Given the description of an element on the screen output the (x, y) to click on. 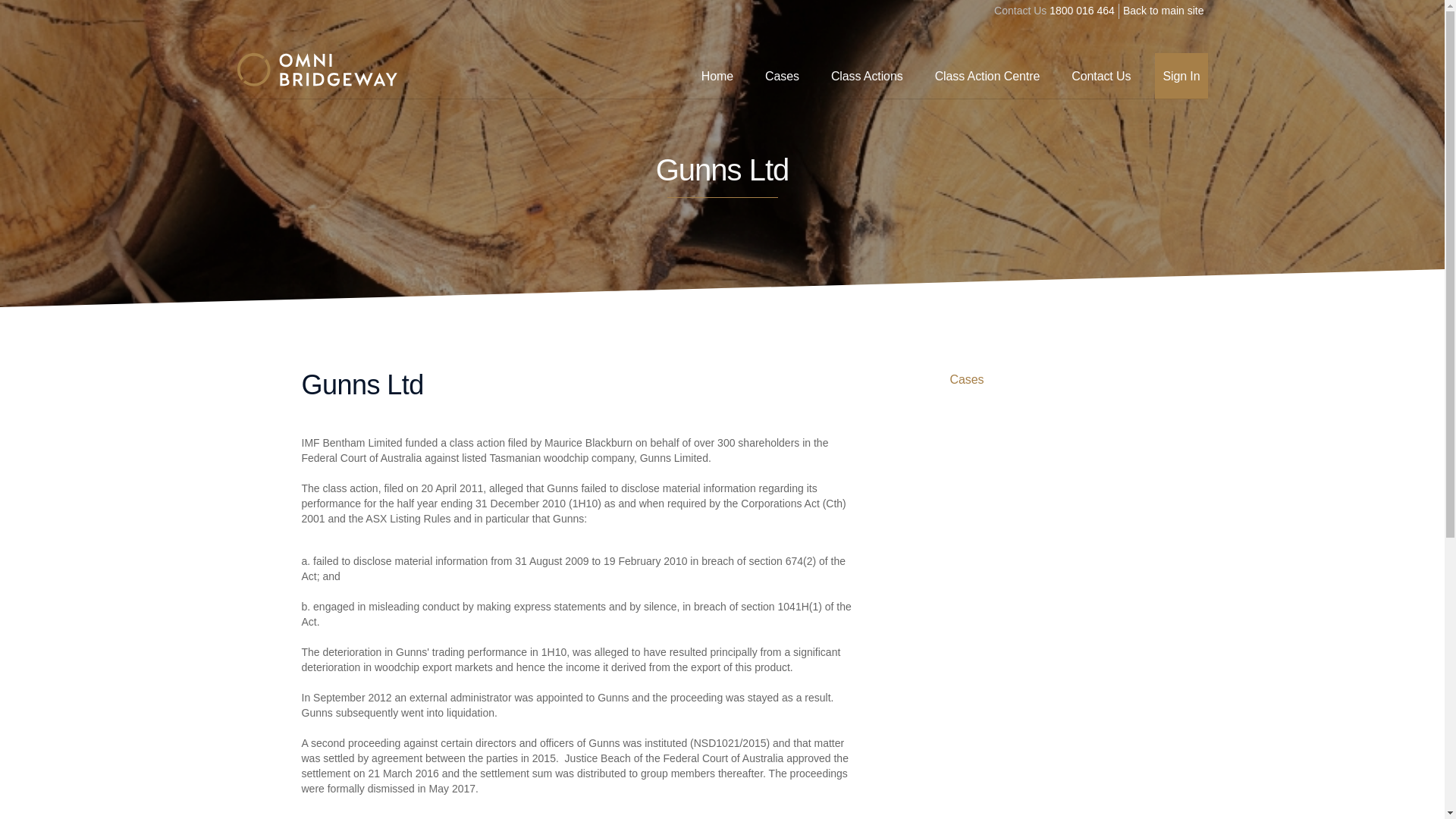
Back to main site (1163, 10)
Contact Us (1101, 76)
Home (717, 76)
Class Actions (867, 76)
Cases (966, 383)
Cases (781, 76)
Sign In (1180, 76)
Class Action Centre (987, 76)
1800 016 464 (1082, 10)
